Given the description of an element on the screen output the (x, y) to click on. 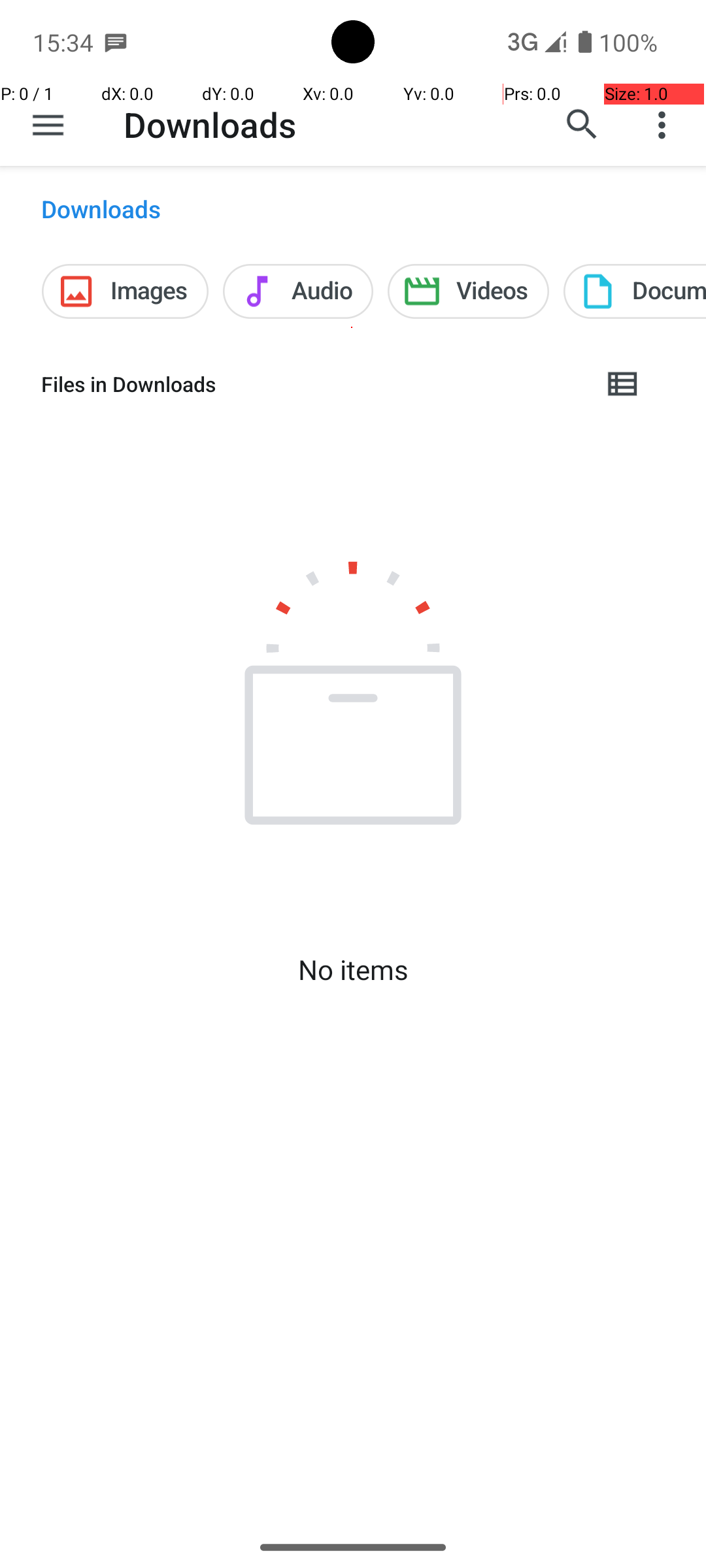
Downloads Element type: android.widget.TextView (209, 124)
Files in Downloads Element type: android.widget.TextView (311, 383)
Videos Element type: android.widget.CompoundButton (468, 291)
Documents Element type: android.widget.CompoundButton (634, 291)
No items Element type: android.widget.TextView (352, 968)
